Given the description of an element on the screen output the (x, y) to click on. 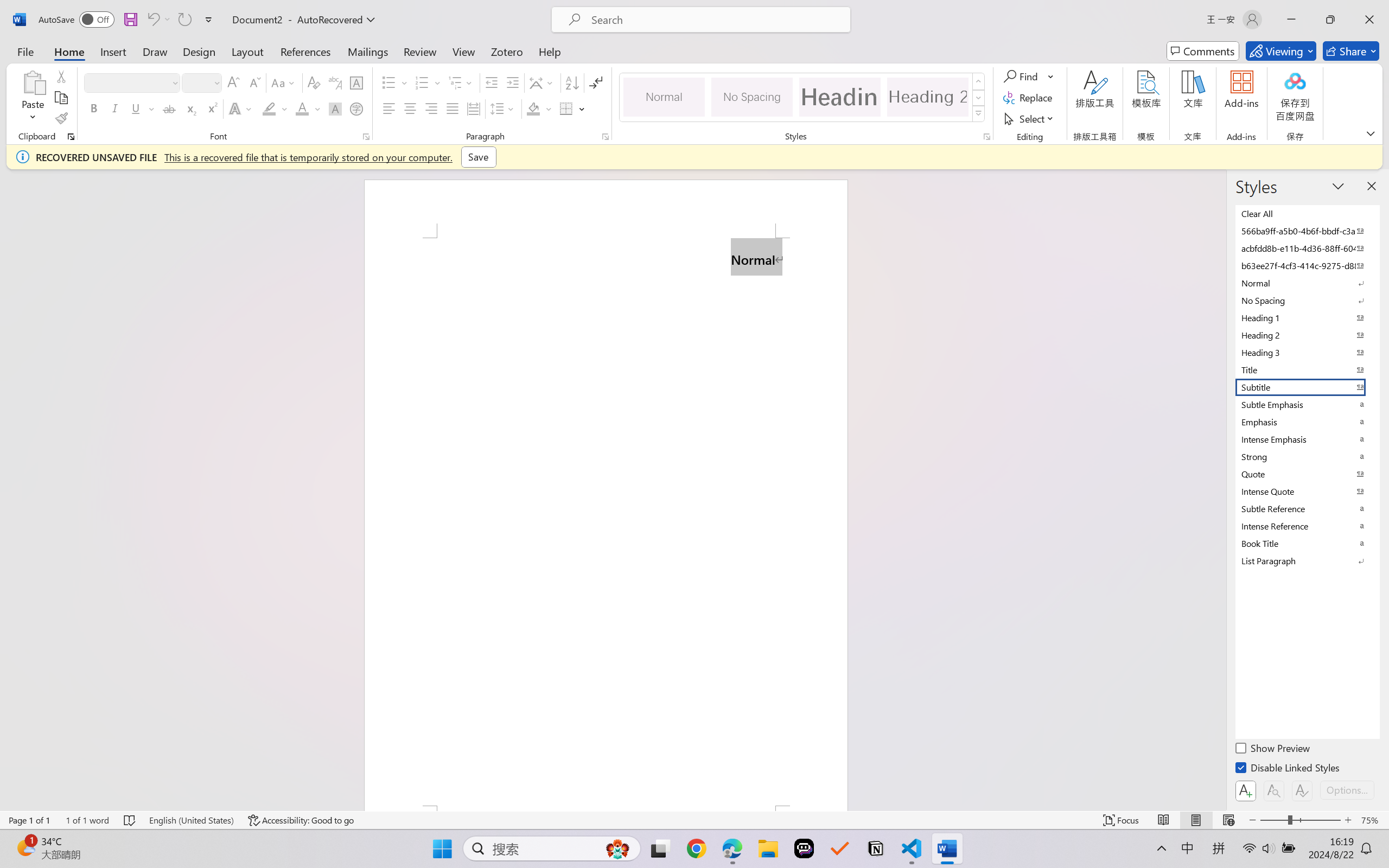
Normal (1306, 282)
Cut (60, 75)
Text Effects and Typography (241, 108)
Mode (1280, 50)
Line and Paragraph Spacing (503, 108)
Replace... (1029, 97)
Microsoft search (715, 19)
Office Clipboard... (70, 136)
Strong (1306, 456)
